Given the description of an element on the screen output the (x, y) to click on. 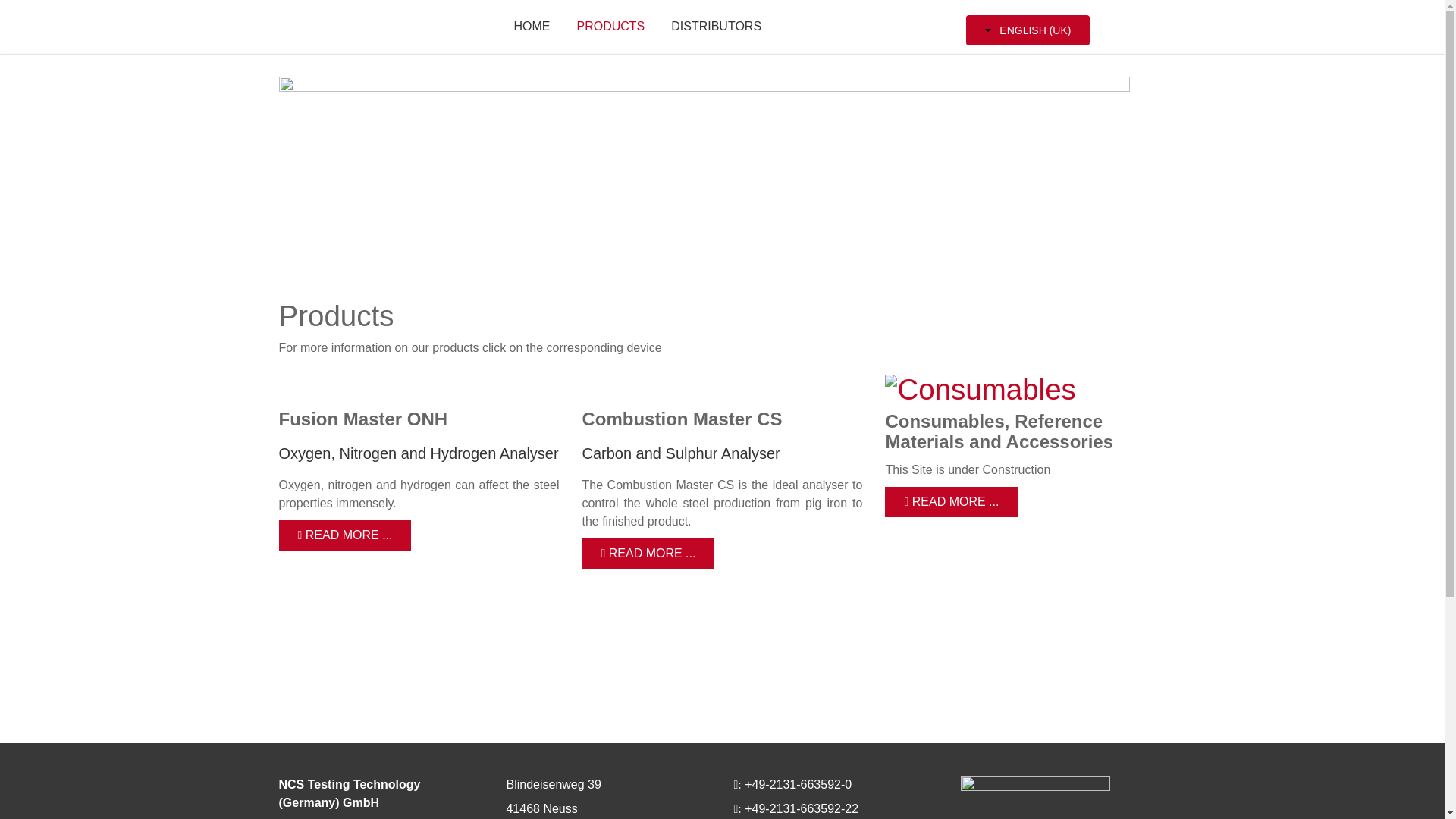
PRODUCTS (610, 26)
HOME (531, 26)
Facebook (290, 676)
Twitter (319, 676)
DISTRIBUTORS (715, 26)
READ MORE ... (345, 535)
YouTube (348, 676)
READ MORE ... (647, 553)
READ MORE ... (951, 501)
